Given the description of an element on the screen output the (x, y) to click on. 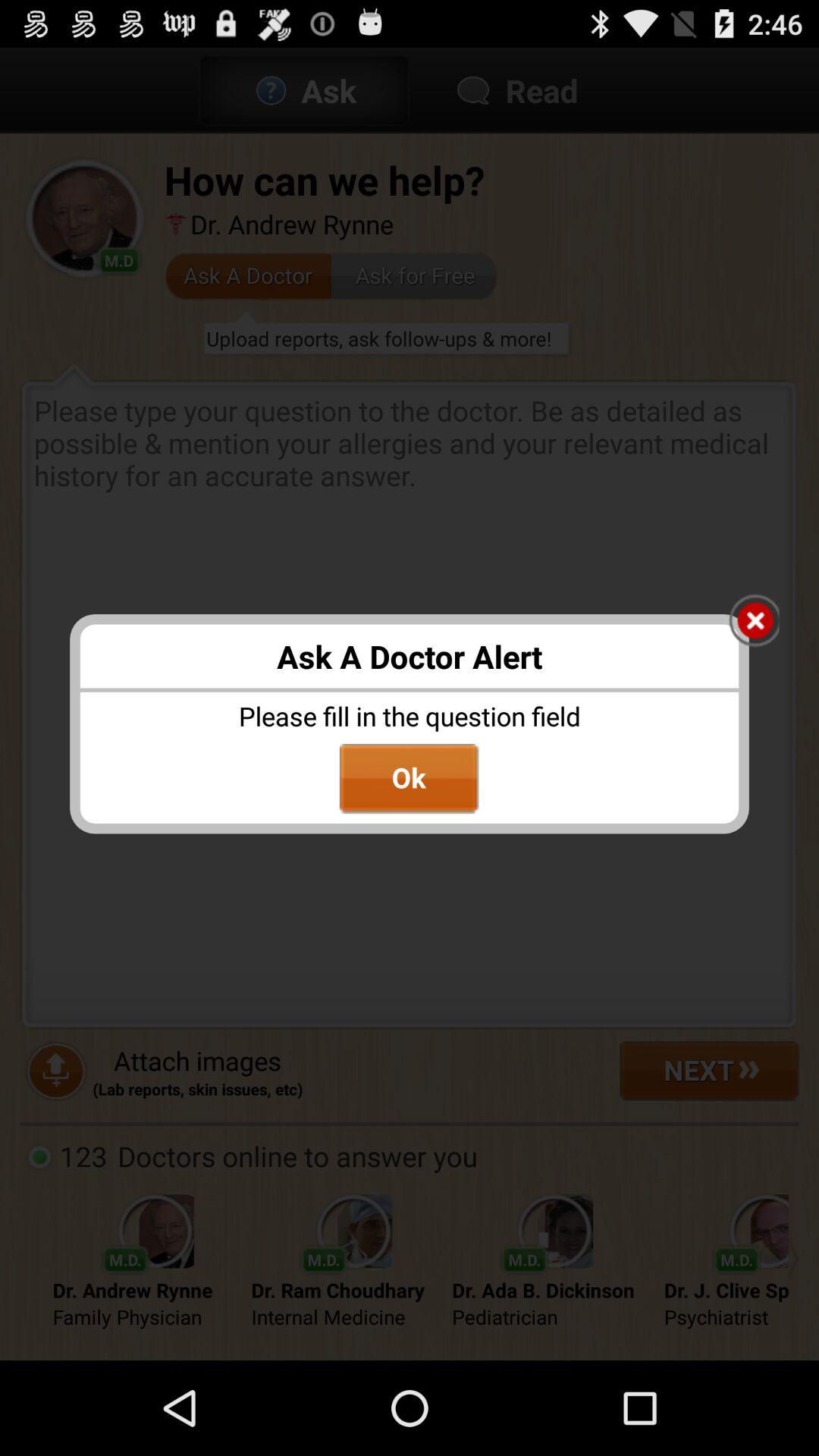
remove option (753, 622)
